Given the description of an element on the screen output the (x, y) to click on. 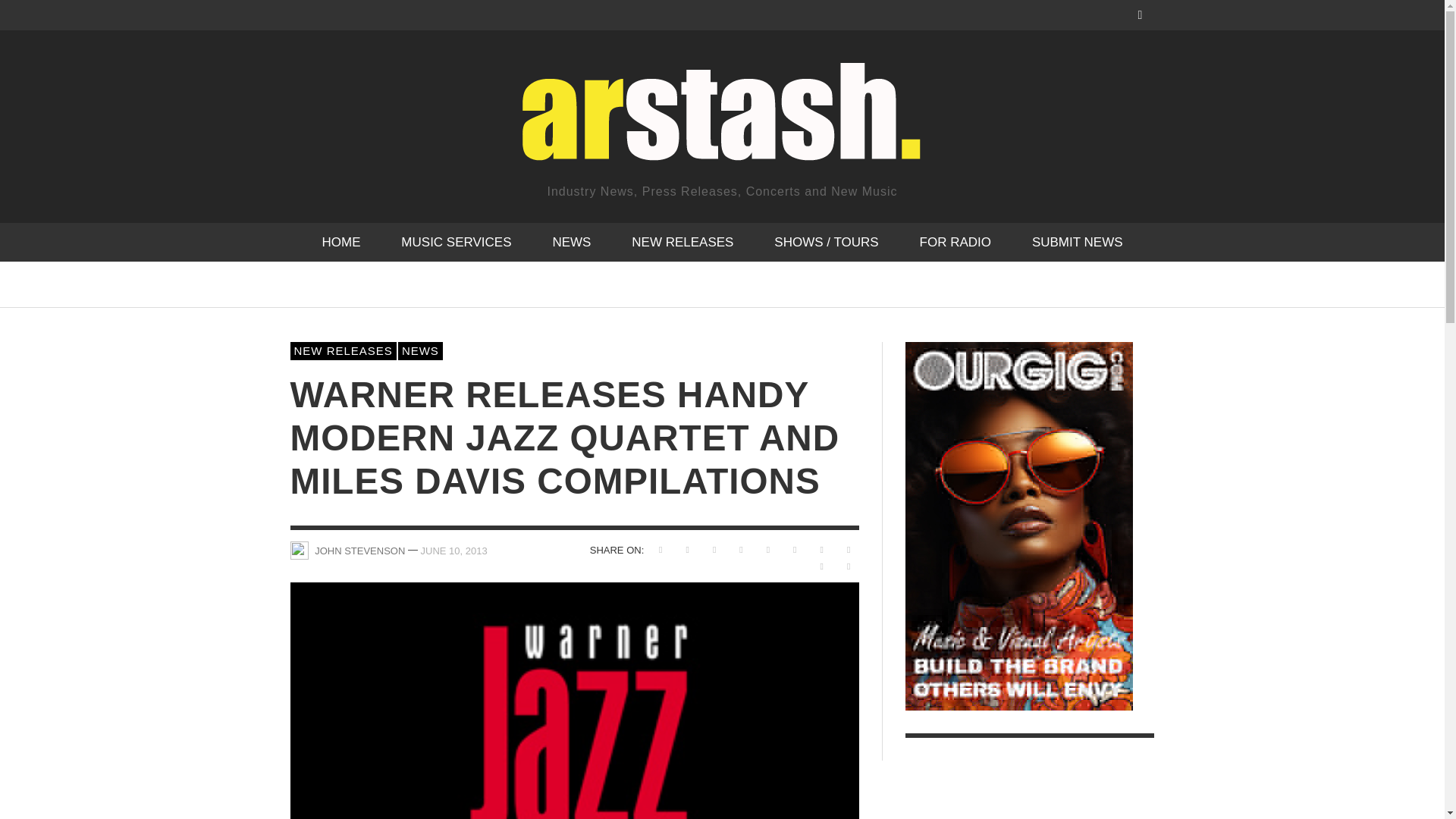
MUSIC SERVICES (455, 241)
FOR RADIO (955, 241)
HOME (340, 241)
NEW RELEASES (682, 241)
NEWS (571, 241)
Industry News, Press Releases, Concerts and New Music (721, 126)
SUBMIT NEWS (1077, 241)
